Given the description of an element on the screen output the (x, y) to click on. 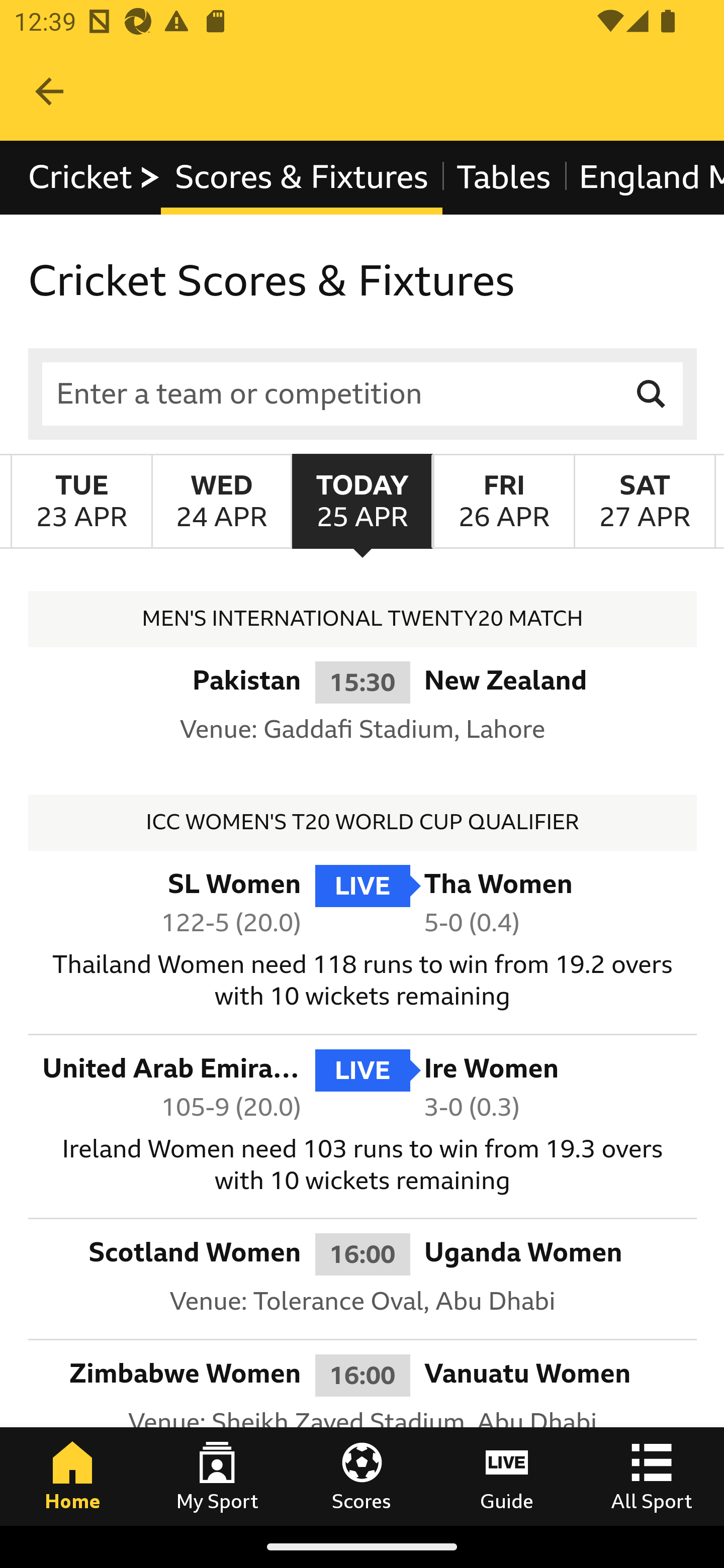
Navigate up (49, 91)
Cricket  (95, 177)
Scores & Fixtures (301, 177)
Tables (503, 177)
Search (651, 393)
TuesdayApril 23rd Tuesday April 23rd (81, 500)
WednesdayApril 24th Wednesday April 24th (221, 500)
FridayApril 26th Friday April 26th (502, 500)
SaturdayApril 27th Saturday April 27th (644, 500)
My Sport (216, 1475)
Scores (361, 1475)
Guide (506, 1475)
All Sport (651, 1475)
